Given the description of an element on the screen output the (x, y) to click on. 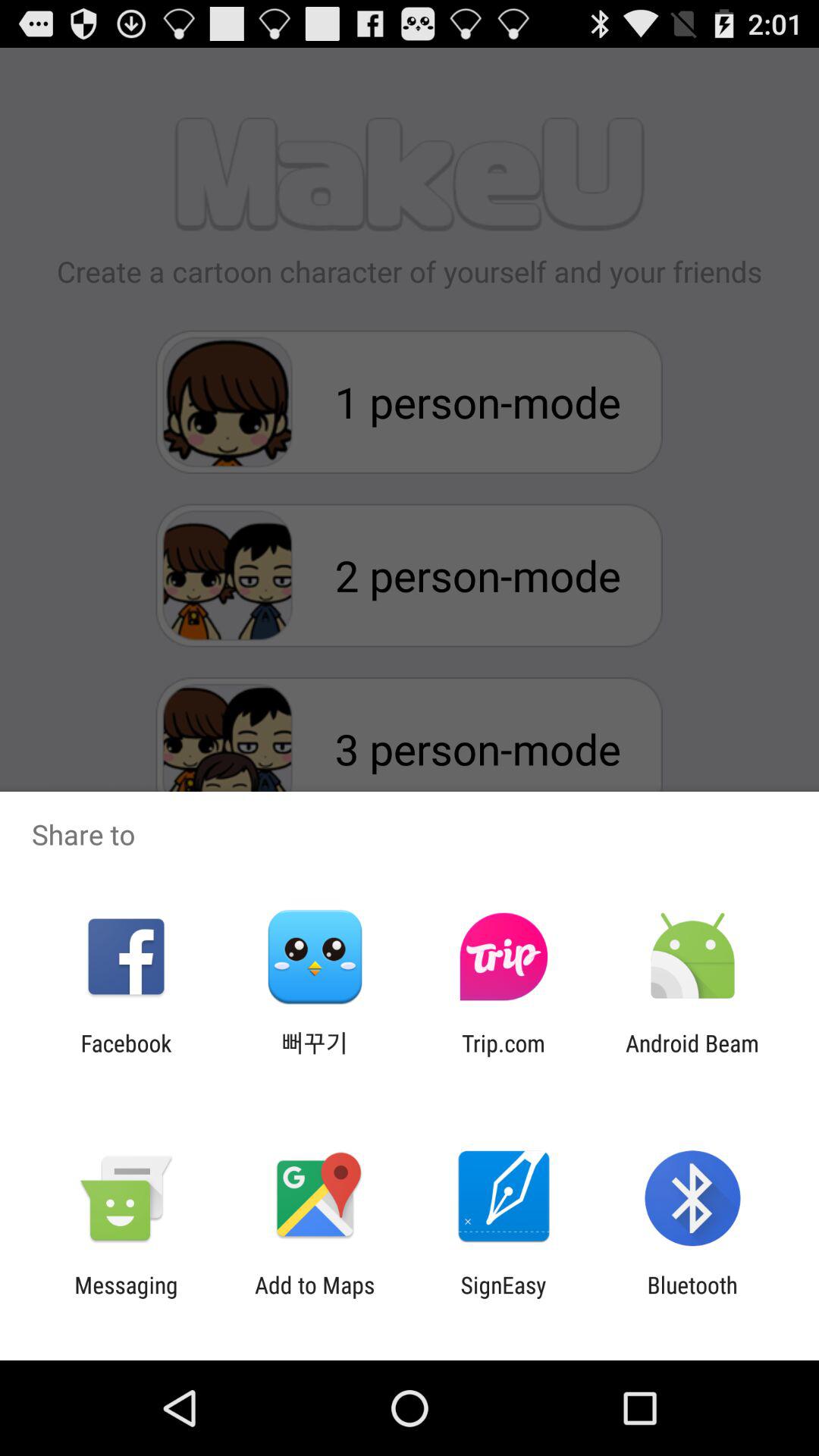
click the app next to add to maps (126, 1298)
